Given the description of an element on the screen output the (x, y) to click on. 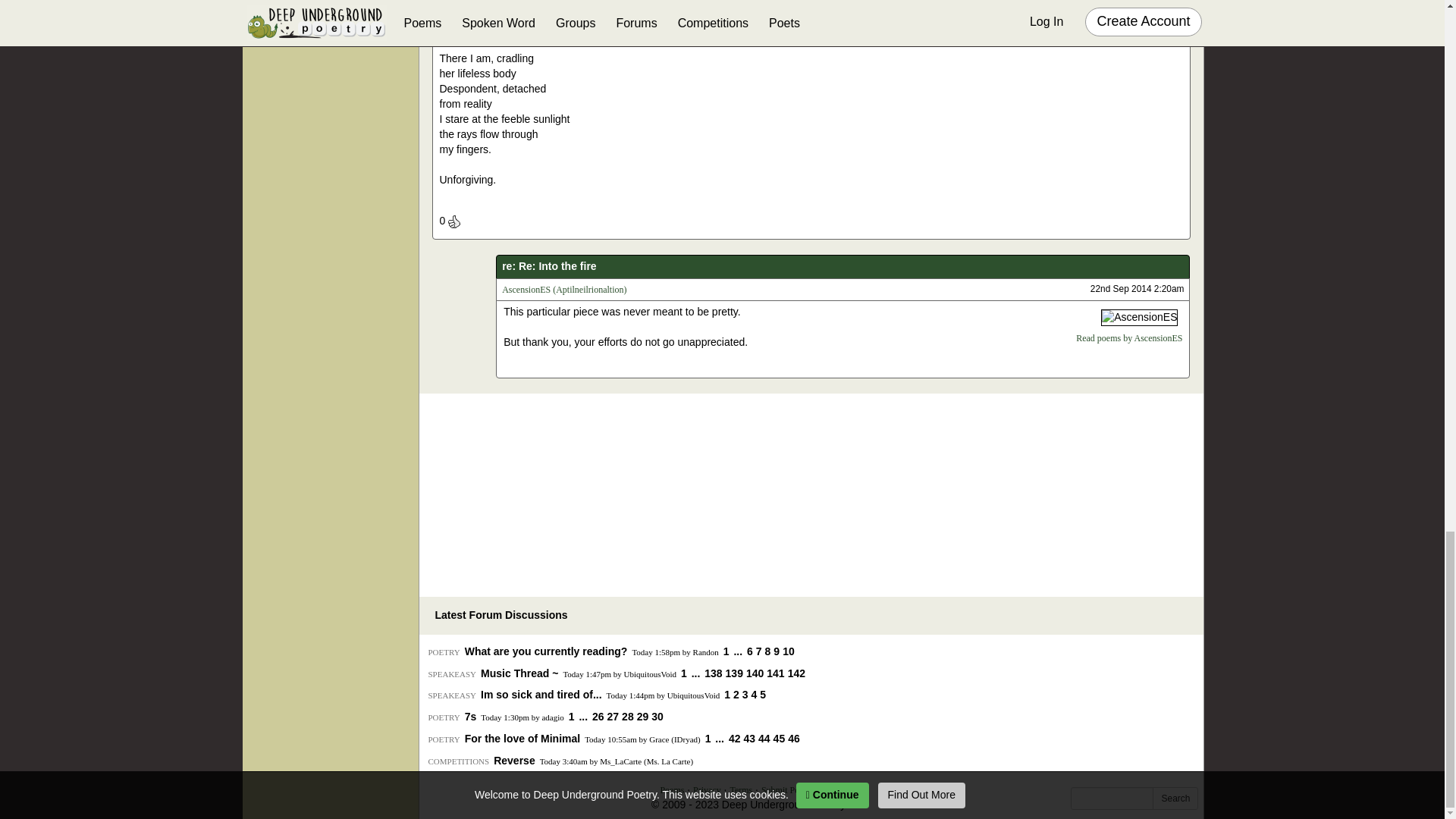
Search (1175, 798)
Read poems by AscensionES (1128, 337)
AscensionES (1138, 317)
What are you currently reading? (545, 651)
Thumbs Up (454, 221)
